Given the description of an element on the screen output the (x, y) to click on. 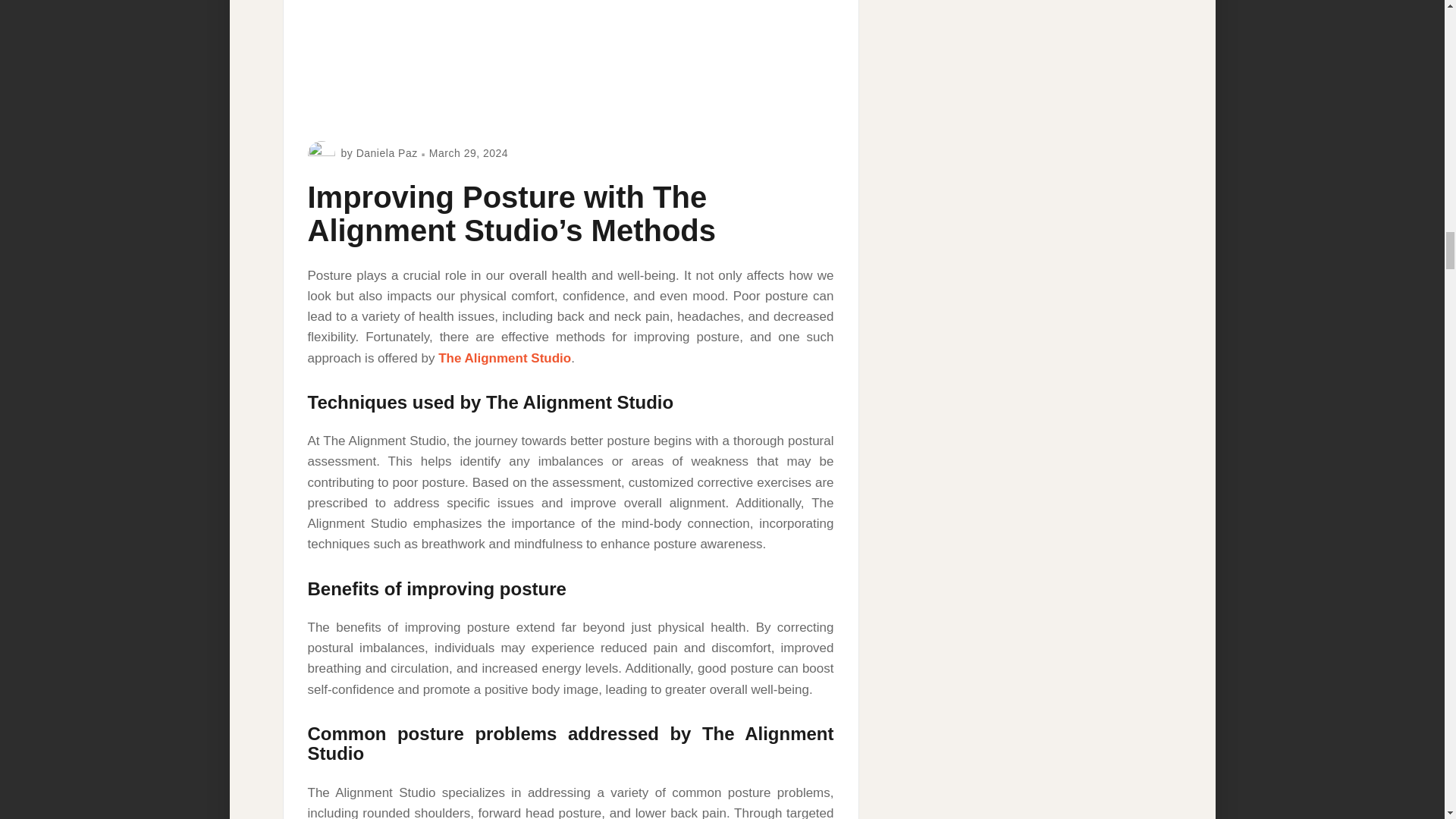
Daniela Paz (386, 152)
The Alignment Studio (504, 358)
March 29, 2024 (468, 152)
